Given the description of an element on the screen output the (x, y) to click on. 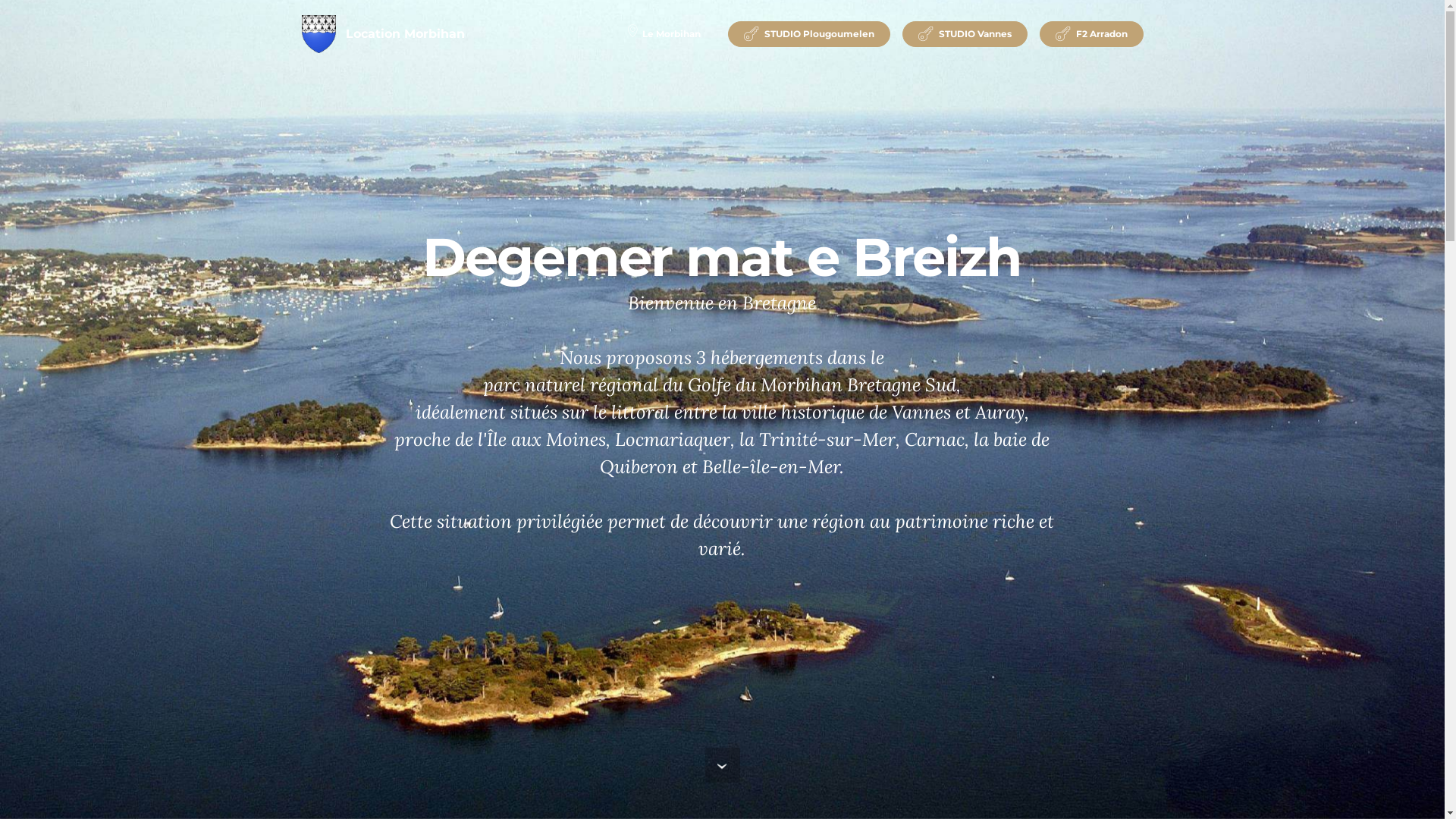
Location Morbihan Element type: text (404, 34)
Le Morbihan Element type: text (664, 33)
F2 Arradon Element type: text (1091, 34)
Location Morbihan Element type: hover (318, 34)
STUDIO Plougoumelen Element type: text (809, 34)
STUDIO Vannes Element type: text (964, 34)
